Given the description of an element on the screen output the (x, y) to click on. 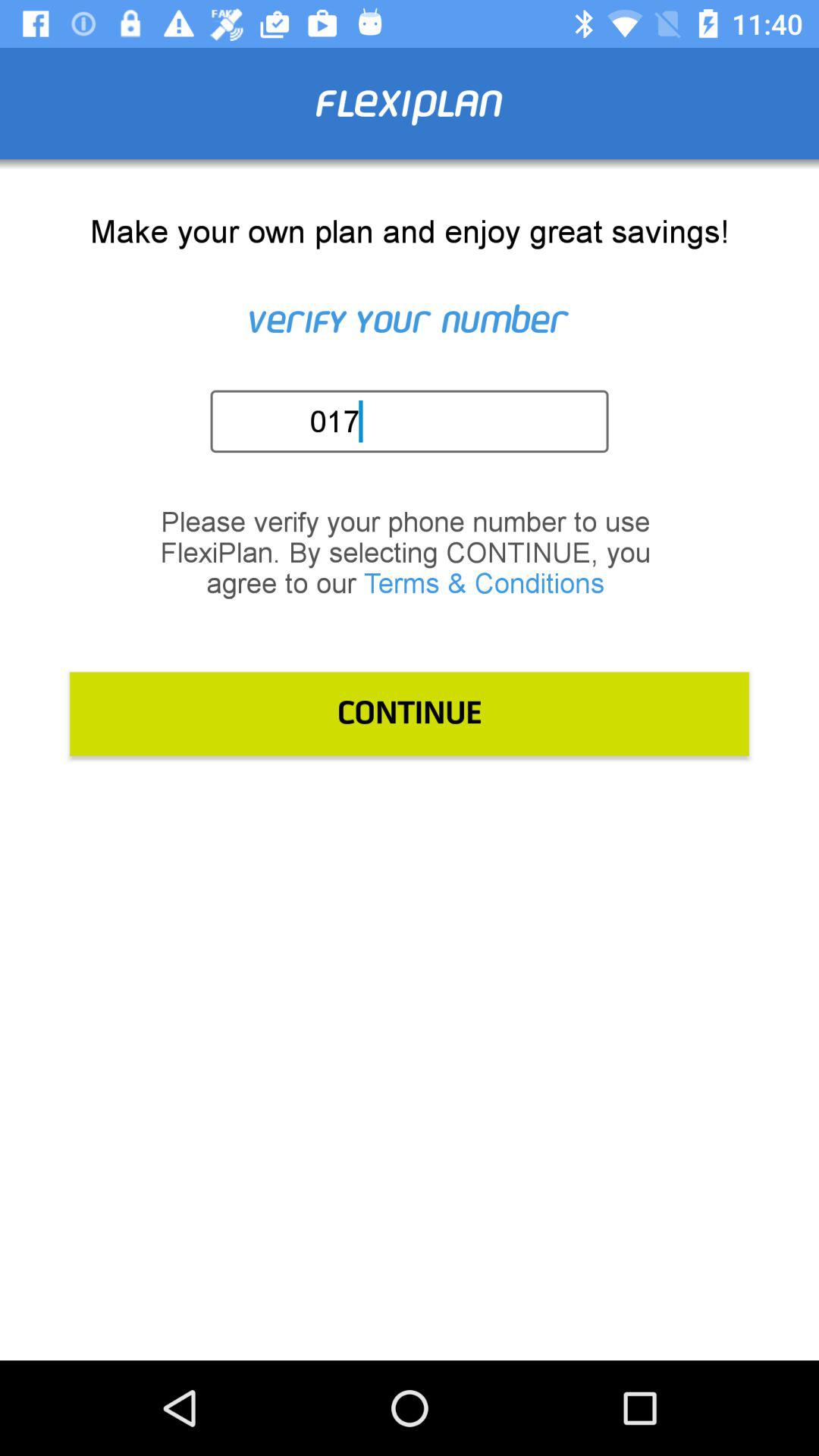
scroll until the 017 (413, 421)
